Given the description of an element on the screen output the (x, y) to click on. 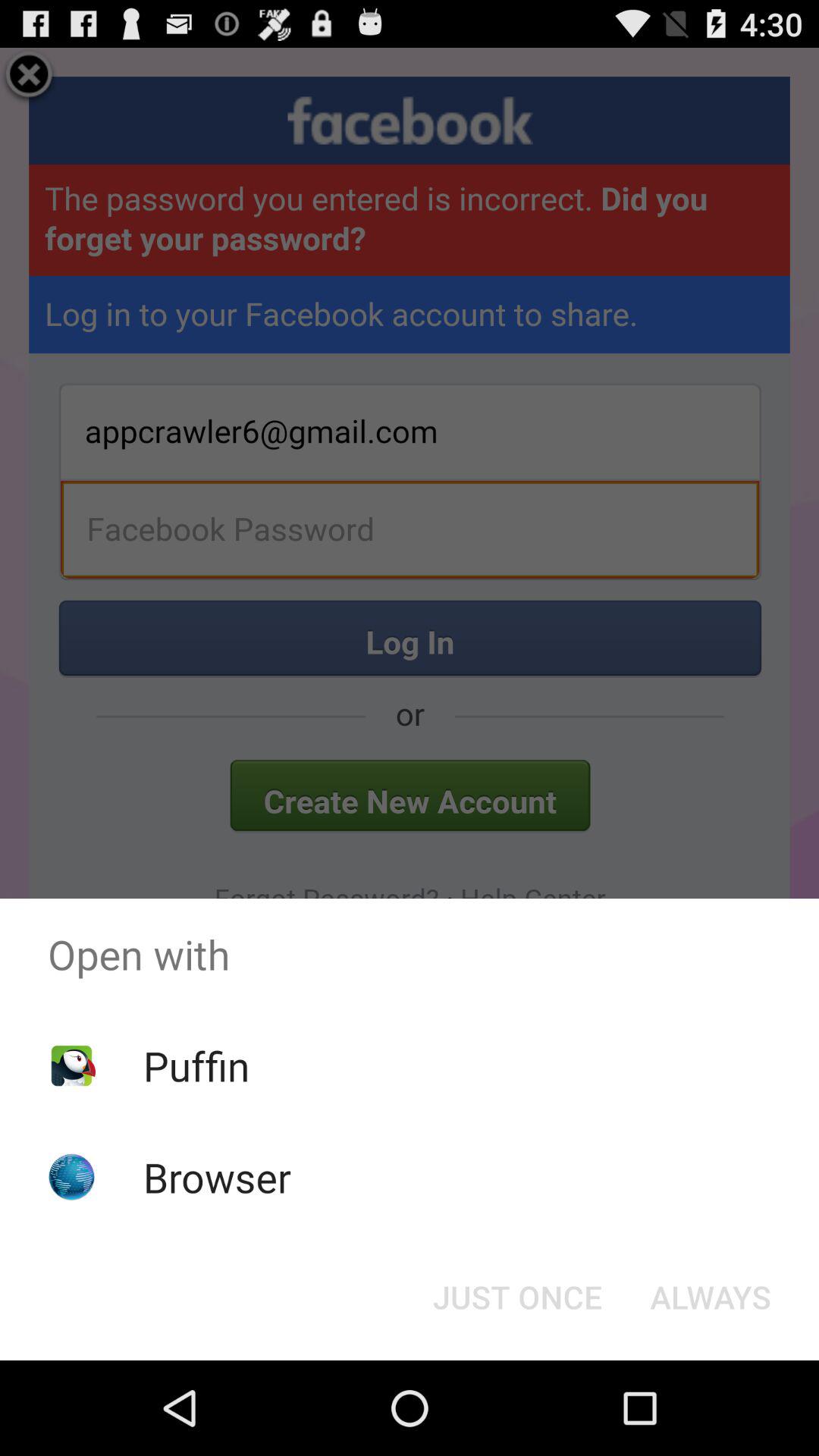
turn on just once button (517, 1296)
